Given the description of an element on the screen output the (x, y) to click on. 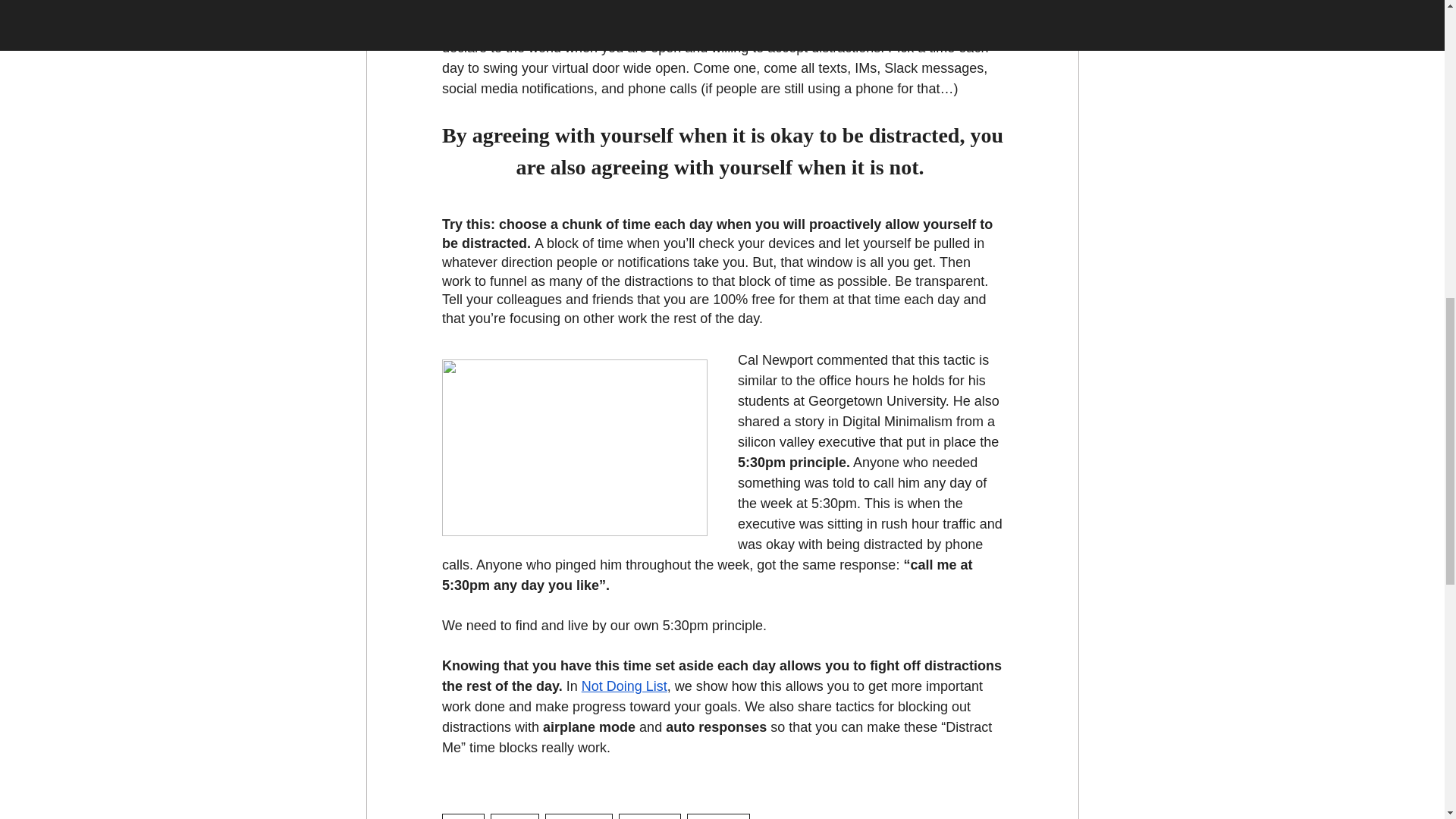
Focus (514, 816)
Calendar (718, 816)
168 hours (577, 816)
Meetings (649, 816)
Not Doing List (623, 685)
Time (462, 816)
